Given the description of an element on the screen output the (x, y) to click on. 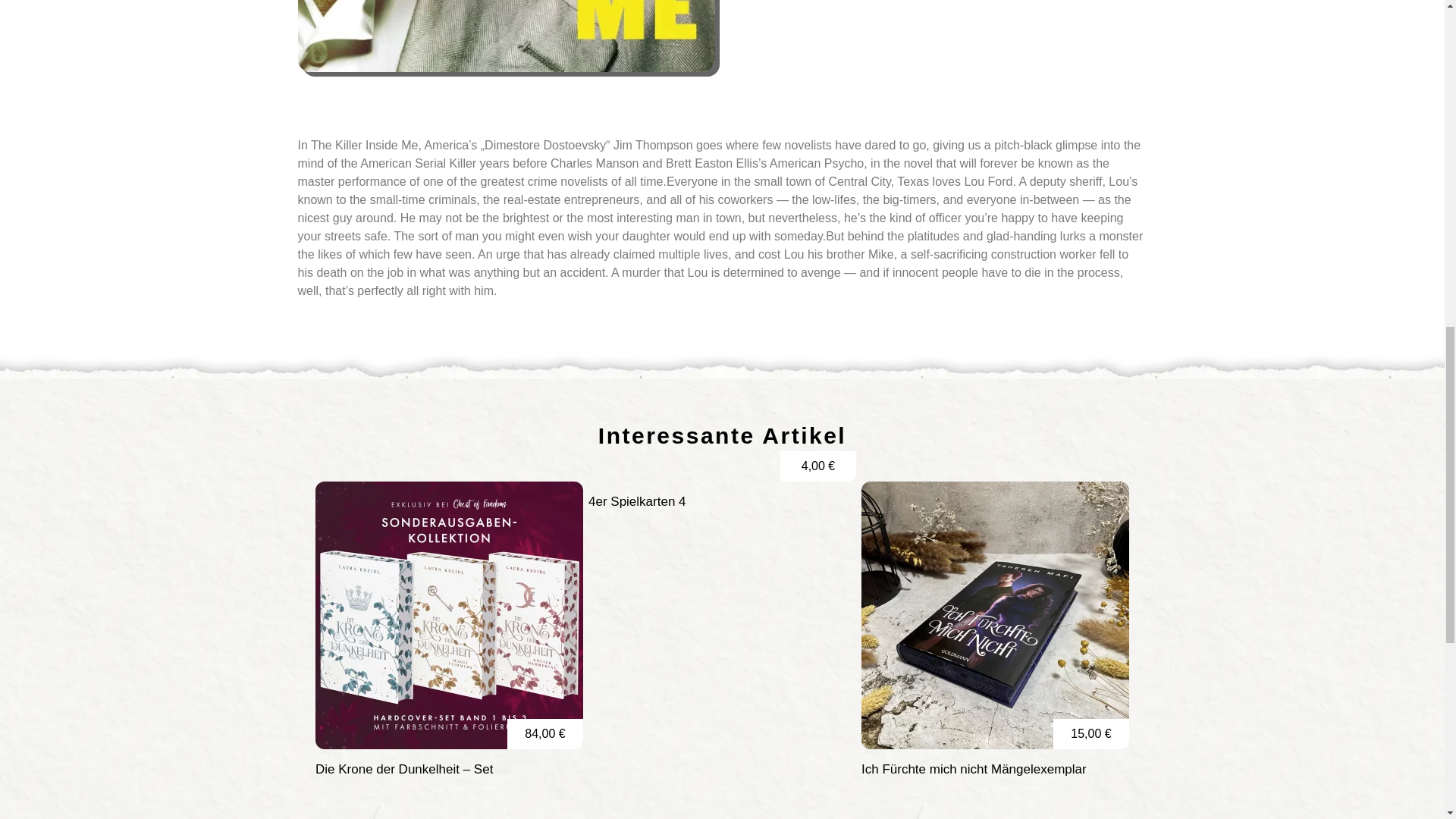
83341-11807.jpg (505, 36)
krone-der-dunkelheit-grafik (449, 615)
